Given the description of an element on the screen output the (x, y) to click on. 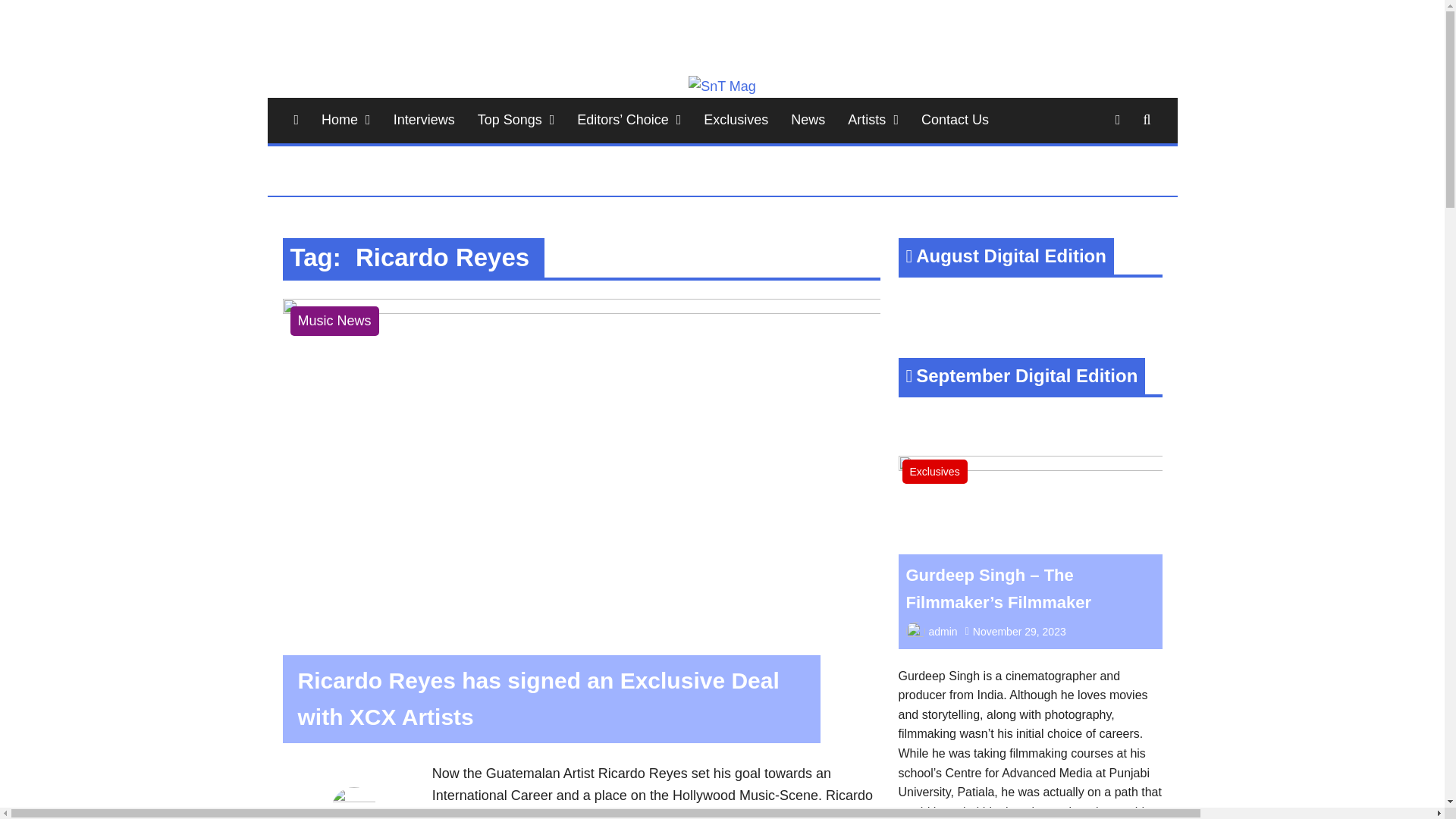
Ricardo Reyes has signed an Exclusive Deal with XCX Artists (581, 309)
Artists (872, 119)
Interviews (423, 119)
SnT Mag (296, 119)
Exclusives (735, 119)
Top Songs (515, 119)
Contact Us (955, 119)
News (806, 119)
Random Post (1117, 119)
SnT Mag (339, 72)
Home (345, 119)
